Given the description of an element on the screen output the (x, y) to click on. 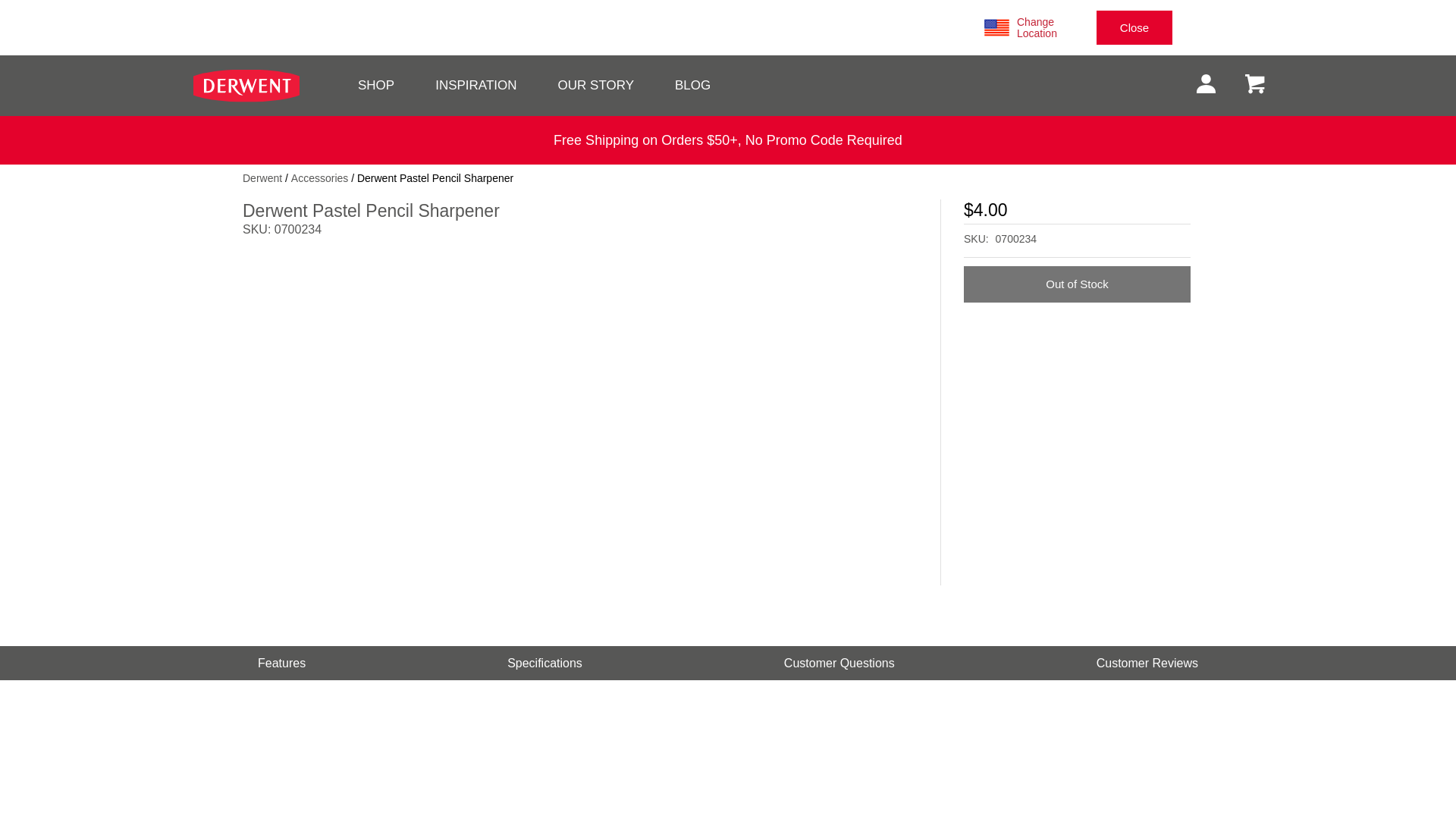
ACCOUNT (1205, 85)
SHOP (375, 85)
Customer Reviews (1147, 663)
Specifications (544, 663)
Close (1134, 27)
Customer Questions (839, 663)
Change Location (1054, 27)
OUR STORY (595, 85)
INSPIRATION (475, 85)
ACCOUNT (1205, 83)
